Given the description of an element on the screen output the (x, y) to click on. 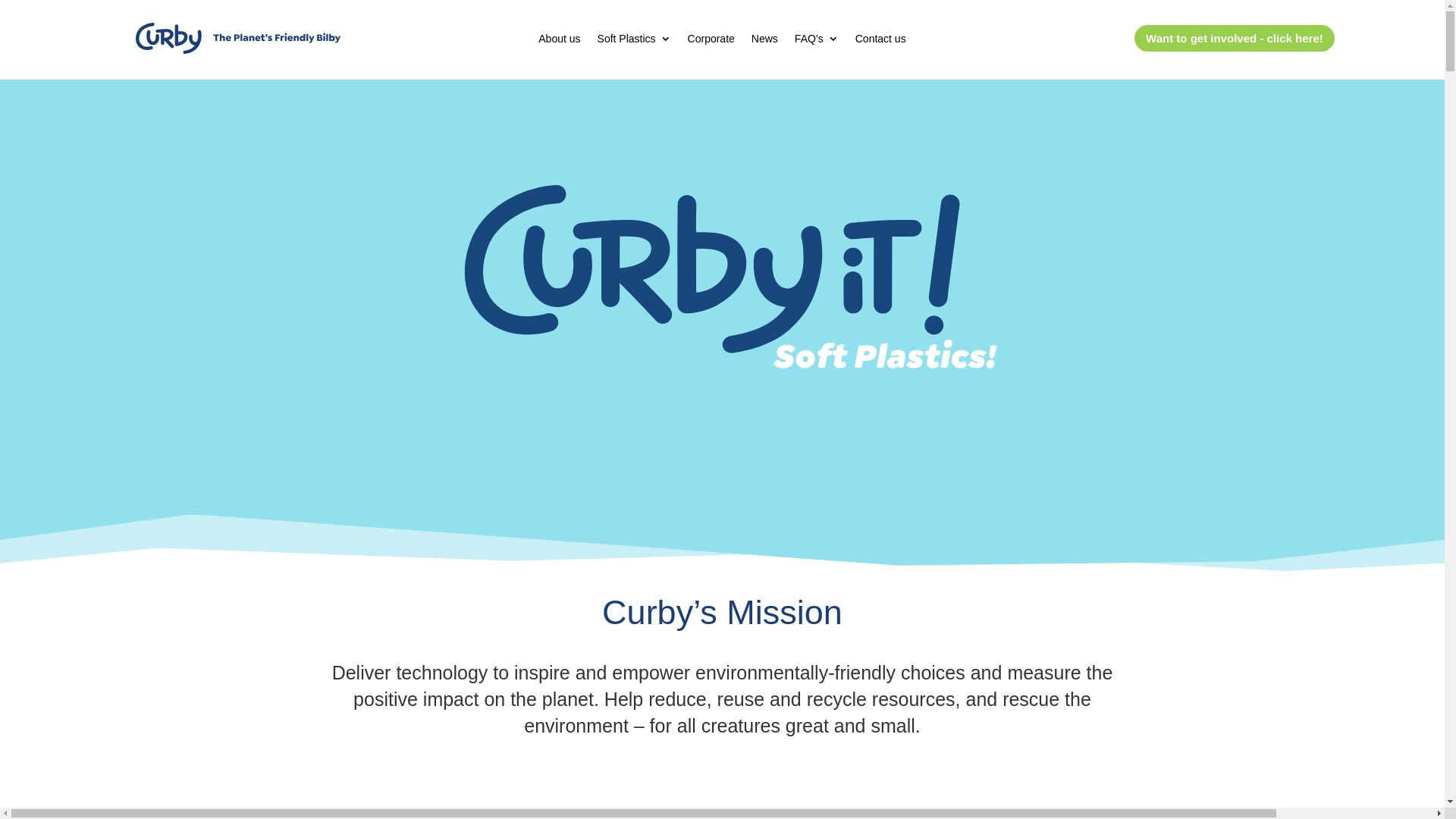
logo _curby Element type: hover (237, 37)
Contact us Element type: text (880, 41)
Corporate Element type: text (710, 41)
Want to get involved - click here! Element type: text (1234, 38)
CONTACT US! Element type: hover (721, 259)
About us Element type: text (559, 41)
News Element type: text (764, 41)
Soft Plastics Element type: text (634, 41)
